Given the description of an element on the screen output the (x, y) to click on. 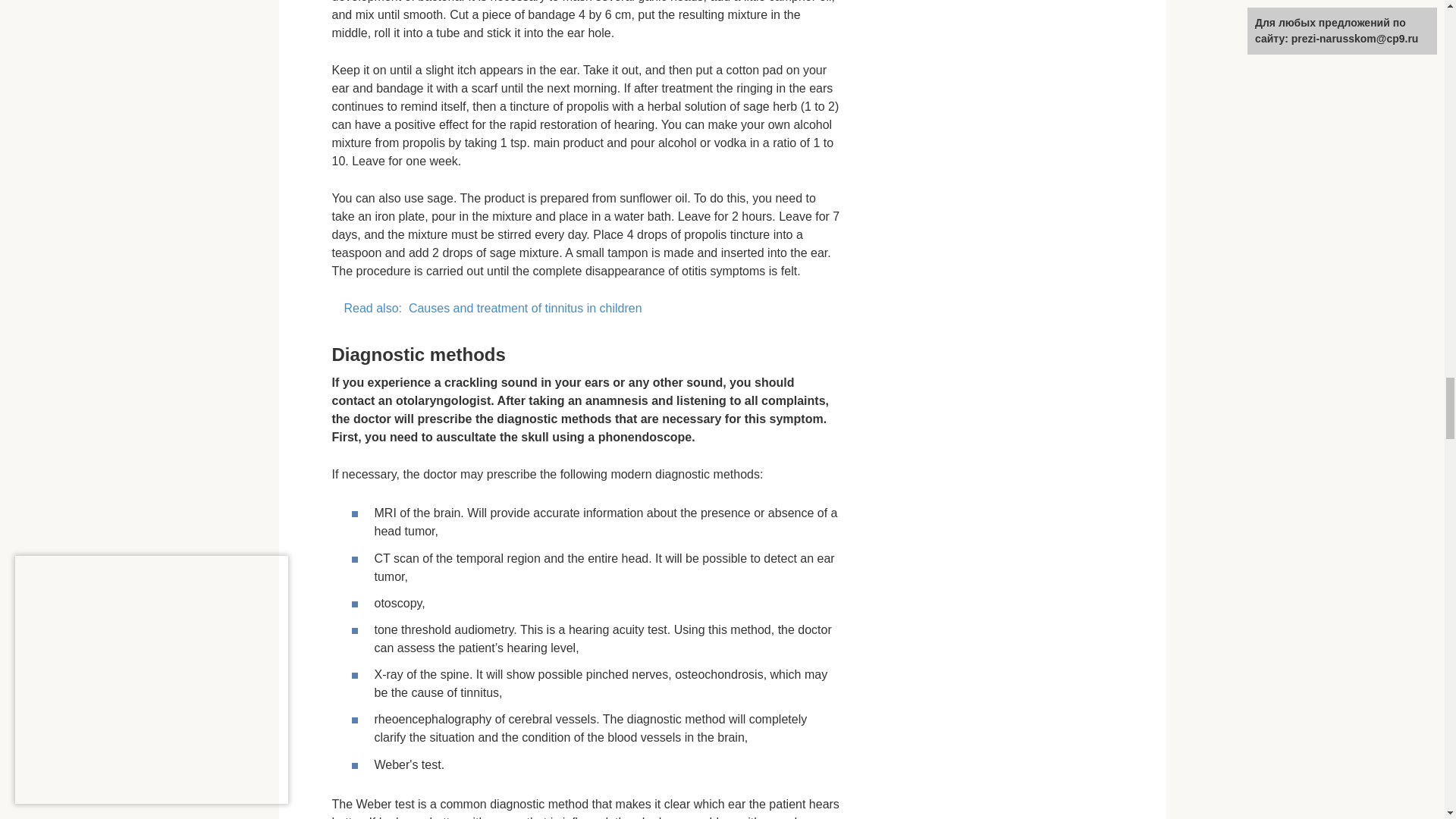
Read also:  Causes and treatment of tinnitus in children (585, 308)
